Given the description of an element on the screen output the (x, y) to click on. 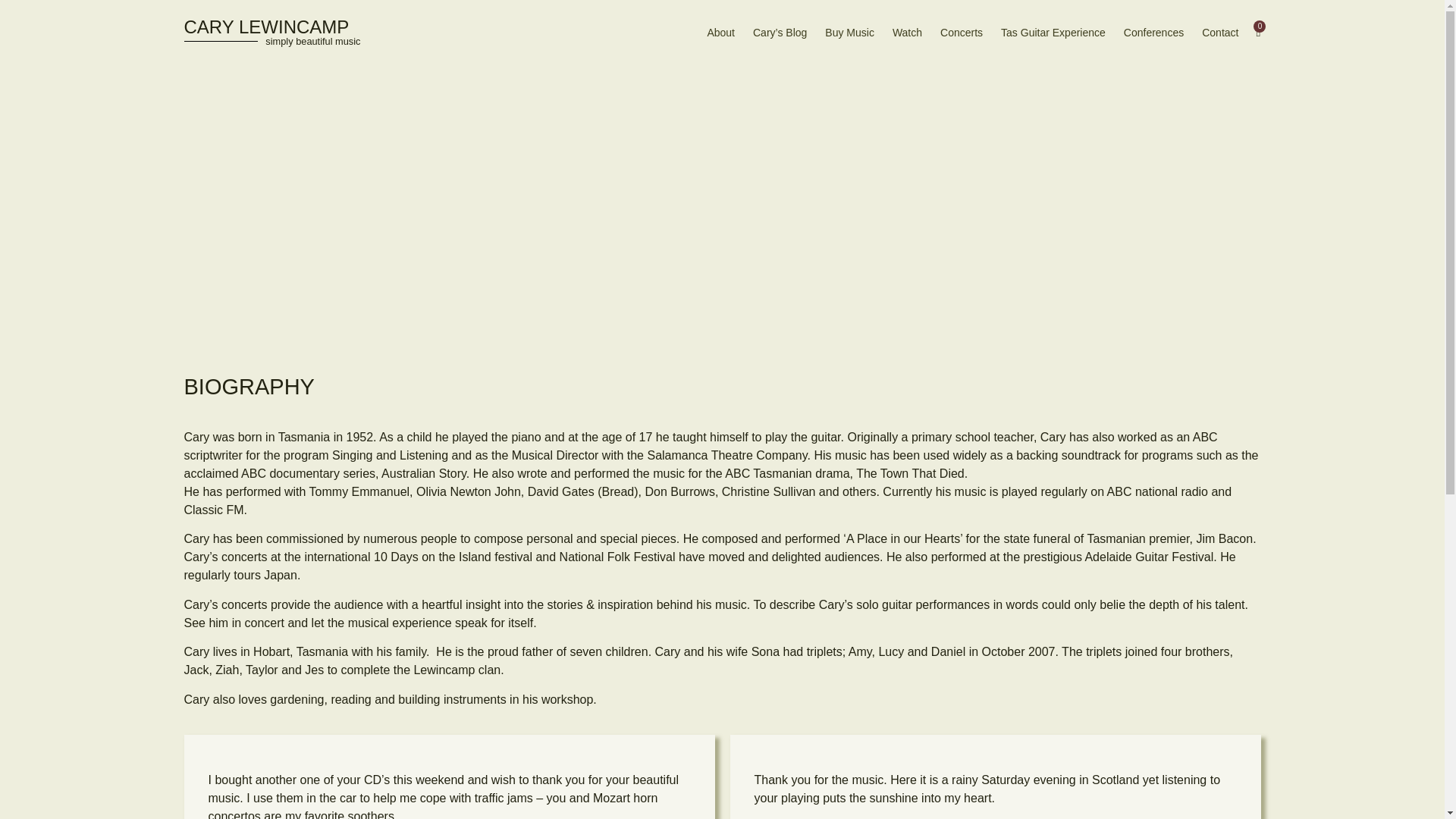
Concerts (961, 32)
Conferences (1153, 32)
Buy Music (849, 32)
Watch (907, 32)
CARY LEWINCAMP (266, 26)
Tas Guitar Experience (1053, 32)
About (720, 32)
Contact (1219, 32)
